Given the description of an element on the screen output the (x, y) to click on. 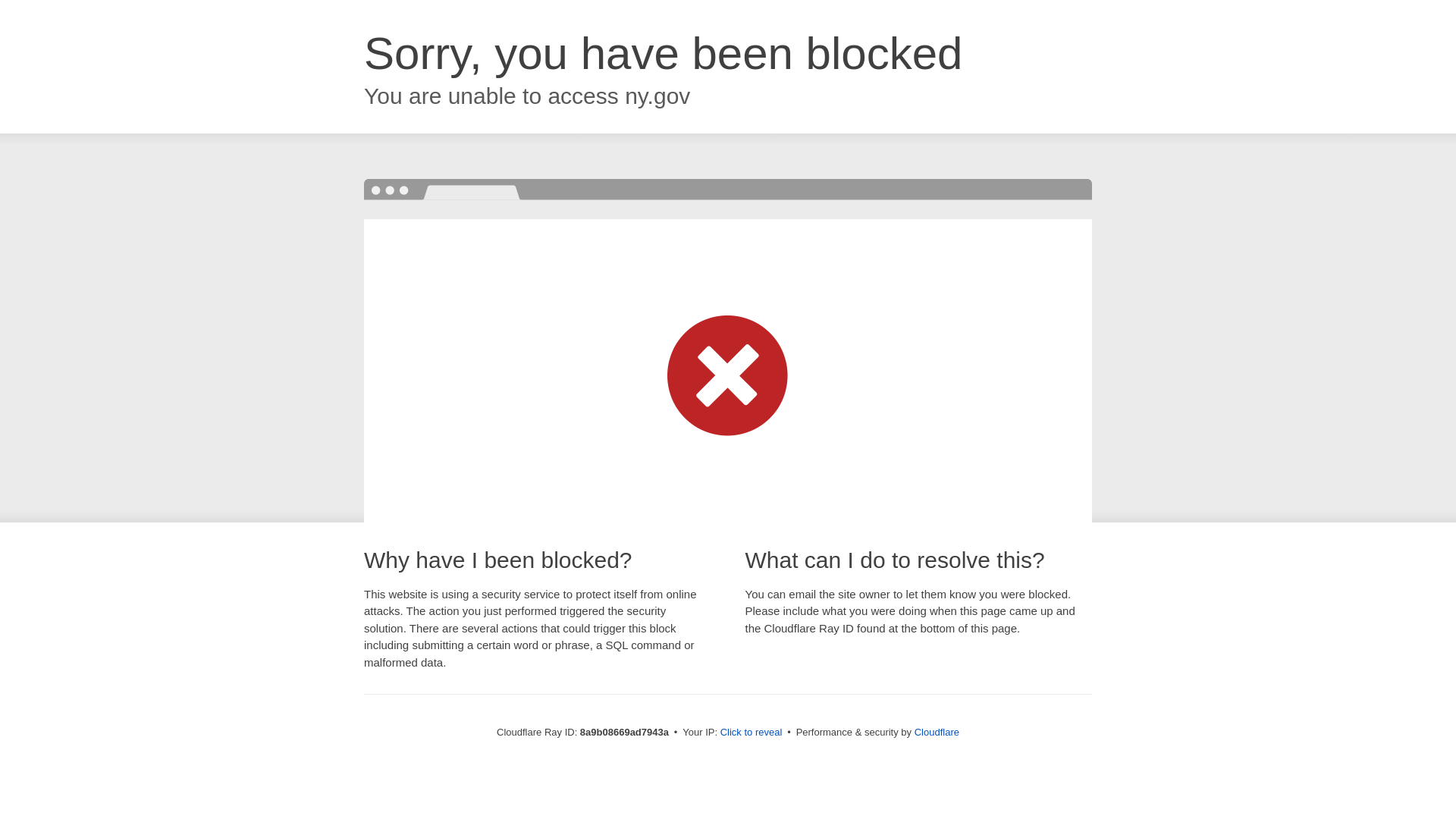
Cloudflare (936, 731)
Click to reveal (751, 732)
